Given the description of an element on the screen output the (x, y) to click on. 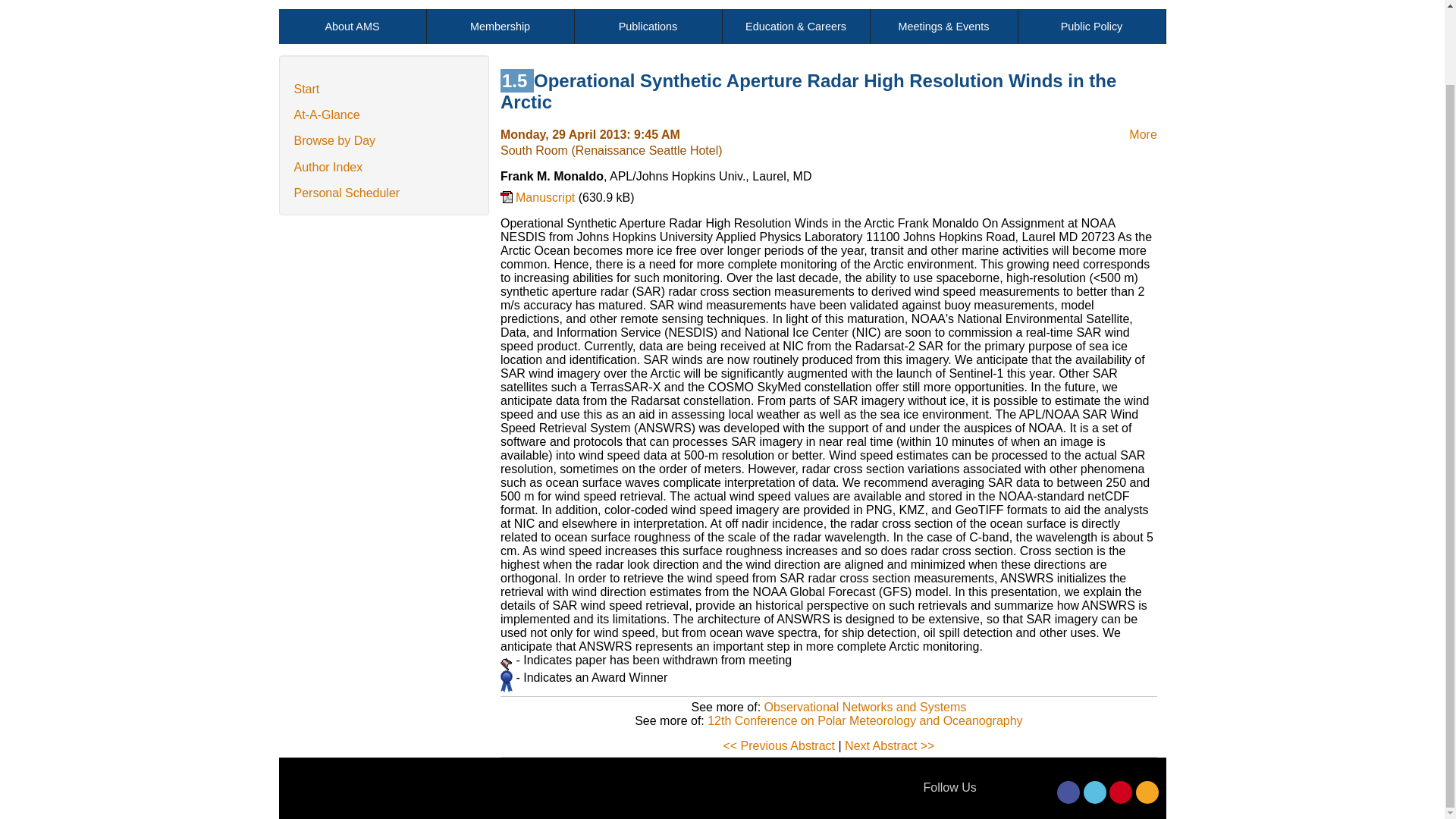
Public Policy (1090, 26)
Facebook (1068, 792)
RSS (1146, 792)
12th Conference on Polar Meteorology and Oceanography (864, 720)
More (1142, 133)
Publications (648, 26)
YouTube (1120, 792)
Twitter (1094, 792)
Observational Networks and Systems (865, 707)
At-A-Glance (326, 114)
Manuscript (539, 204)
Browse by Day (334, 140)
Membership (499, 26)
About AMS (352, 26)
Author Index (328, 166)
